Given the description of an element on the screen output the (x, y) to click on. 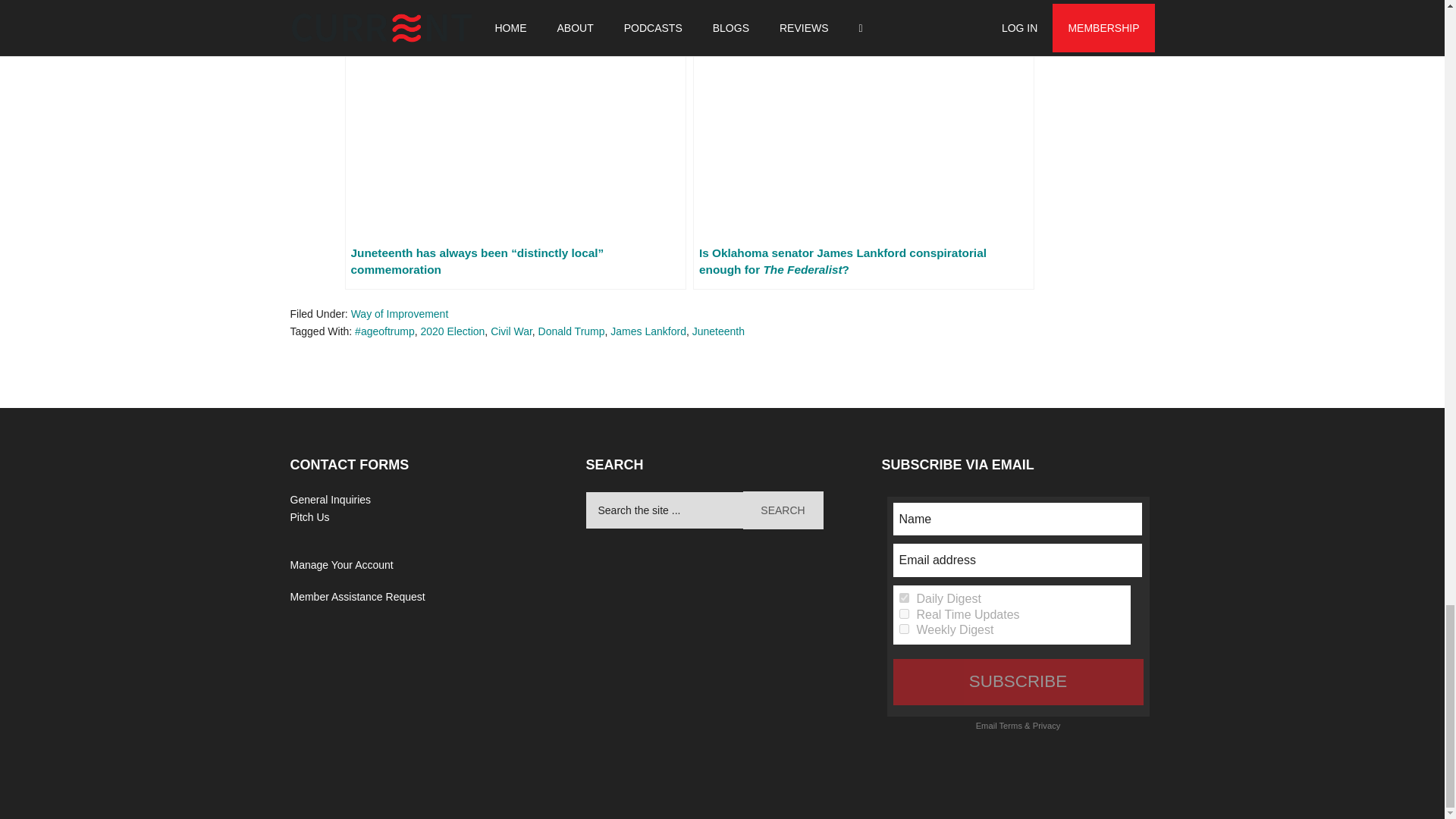
SUBSCRIBE (1017, 681)
1122541 (903, 628)
Frequency (903, 614)
Search (783, 510)
Email subscriptions privacy policy (1046, 725)
Frequency (903, 628)
Email subscriptions terms of service (1010, 725)
Frequency (903, 597)
Name (1017, 518)
